Given the description of an element on the screen output the (x, y) to click on. 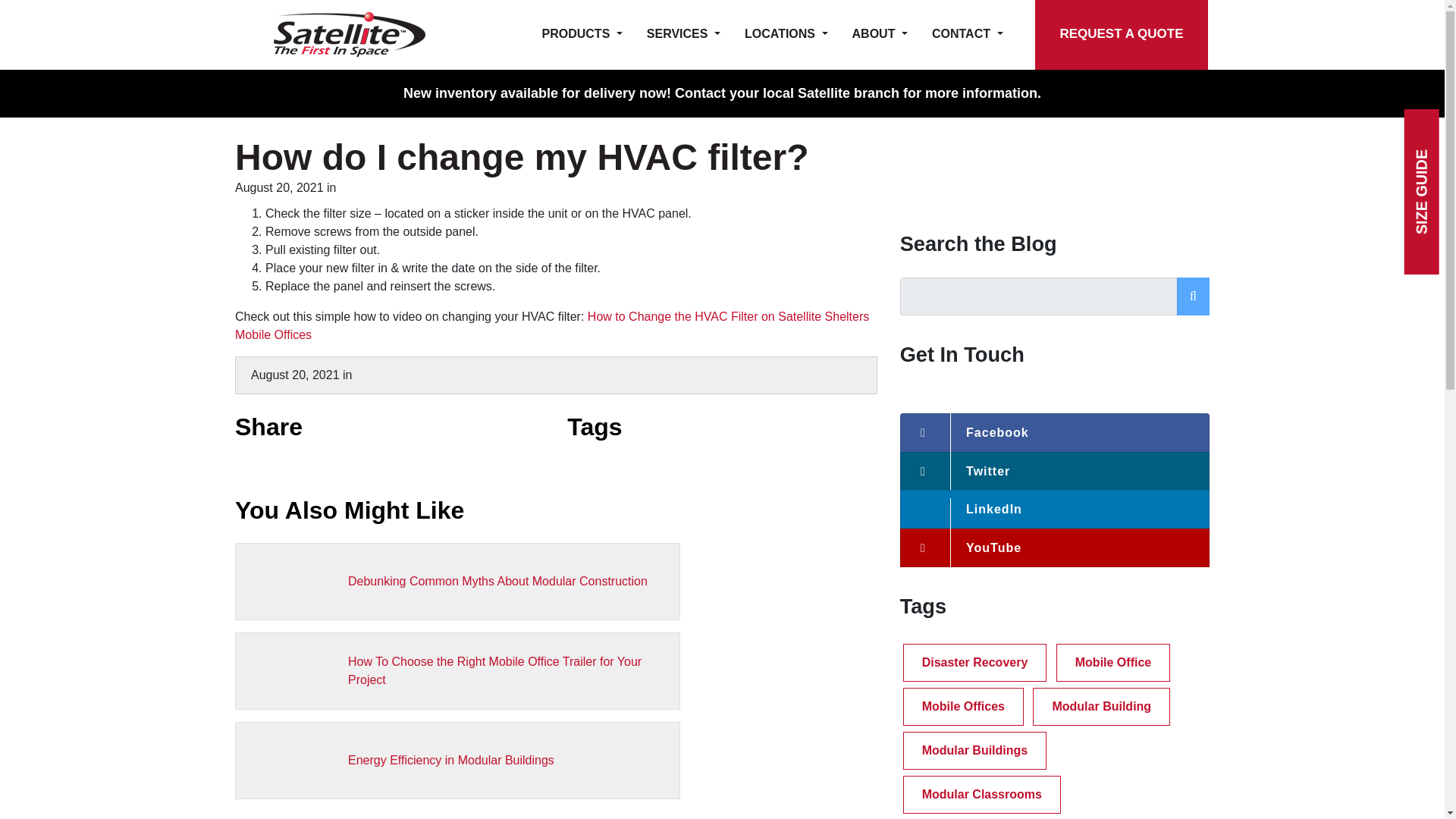
Search for: (1038, 296)
LOCATIONS (786, 34)
SERVICES (683, 34)
PRODUCTS (582, 34)
skip to main content (13, 6)
